Given the description of an element on the screen output the (x, y) to click on. 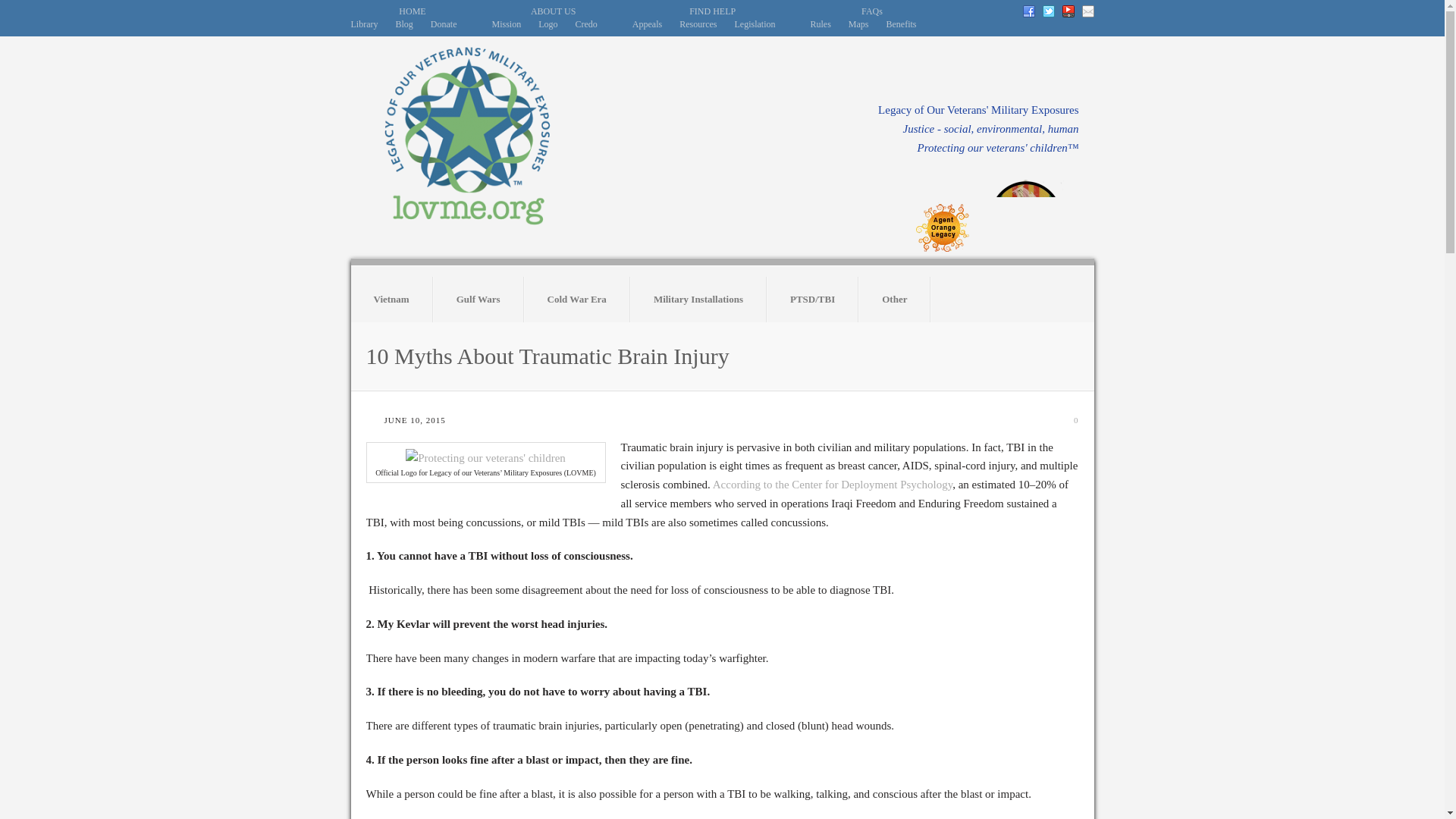
FAQs (871, 10)
Library (363, 23)
Benefits (901, 23)
Credo (585, 23)
HOME (411, 10)
Donate (443, 23)
Resources (697, 23)
Maps (858, 23)
ABOUT US (553, 10)
Legislation (753, 23)
